Given the description of an element on the screen output the (x, y) to click on. 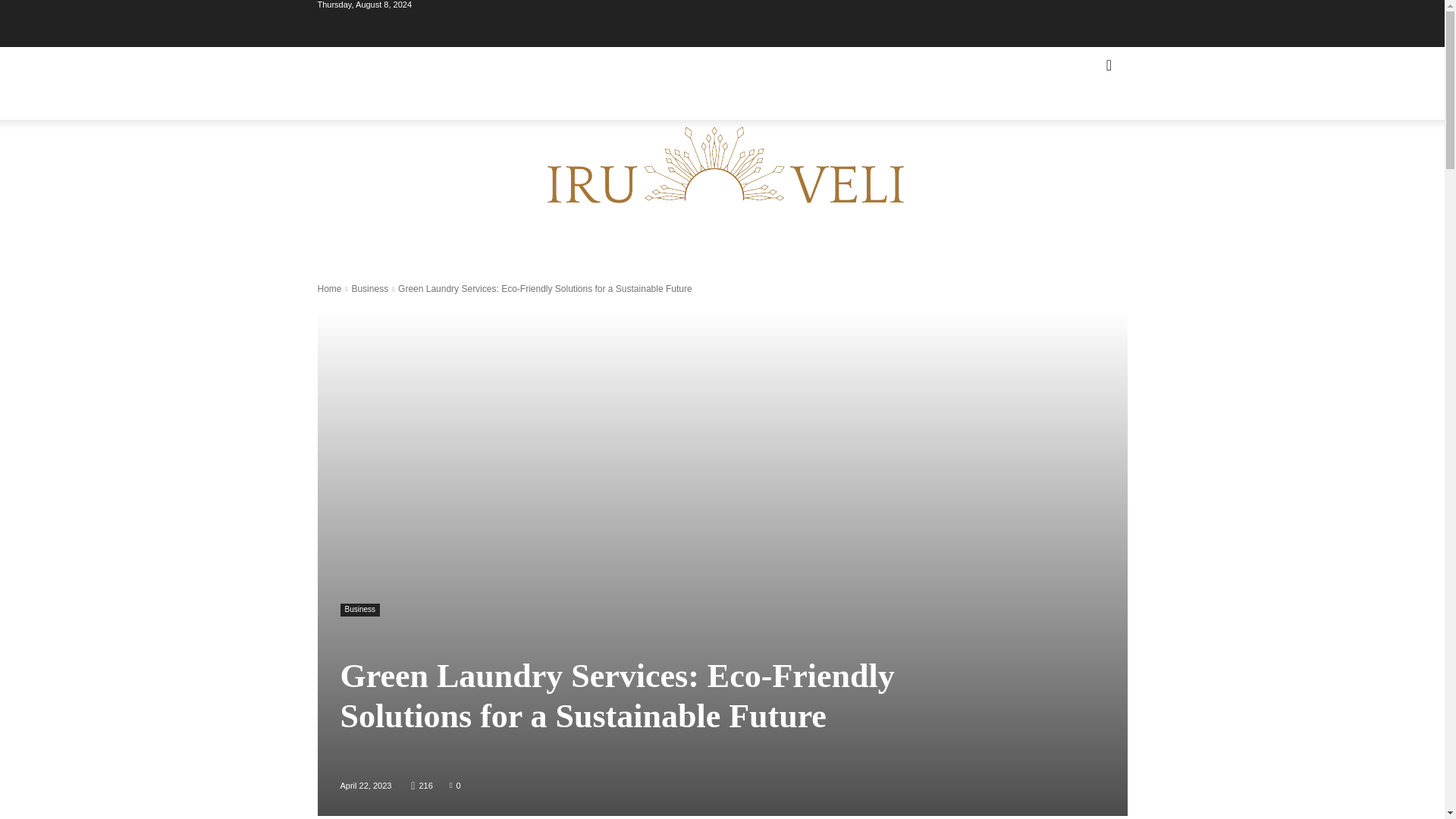
Home (328, 288)
View all posts in Business (369, 288)
Business (369, 288)
Business (359, 609)
0 (455, 784)
